Given the description of an element on the screen output the (x, y) to click on. 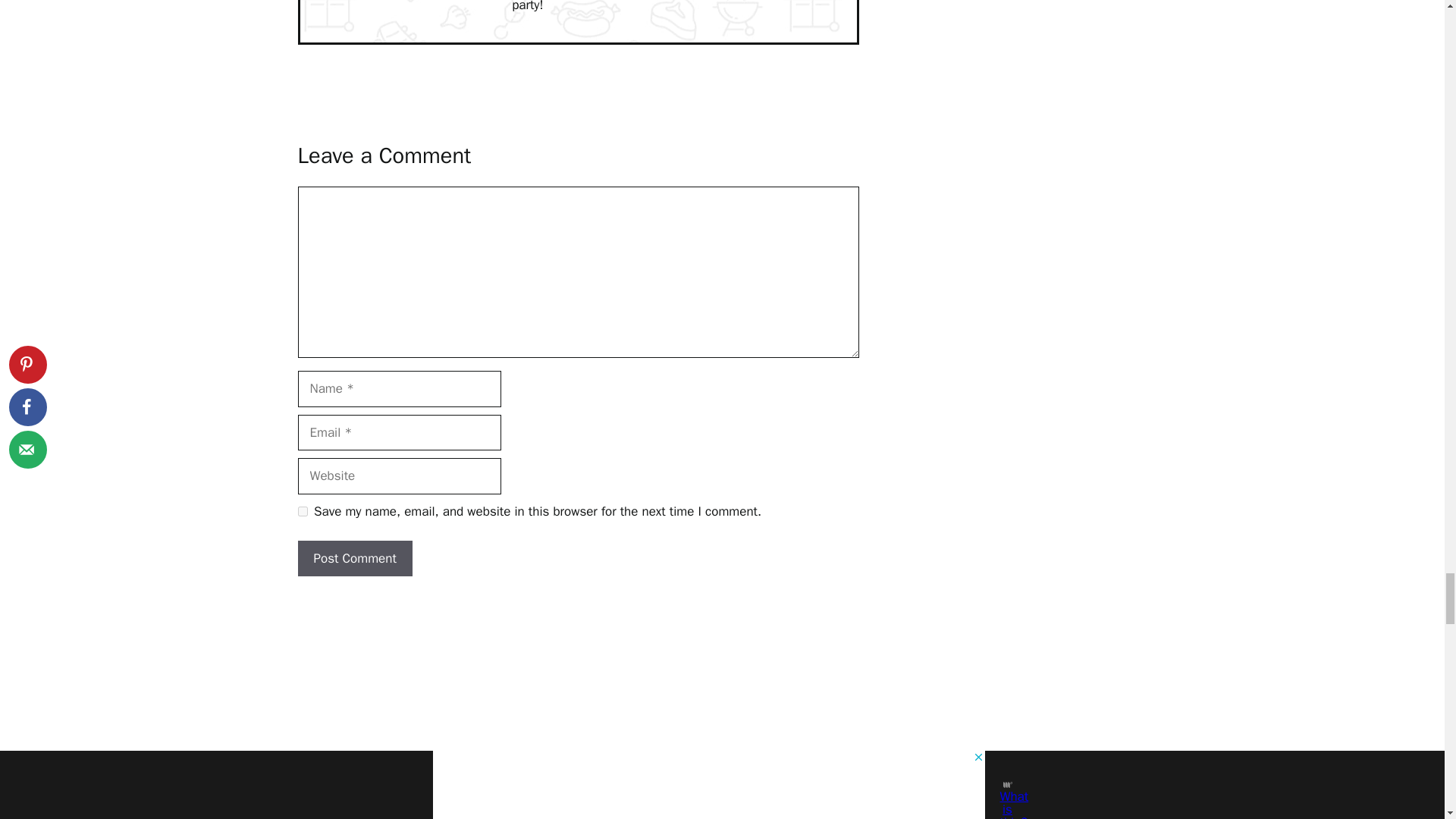
yes (302, 511)
Post Comment (354, 558)
